Given the description of an element on the screen output the (x, y) to click on. 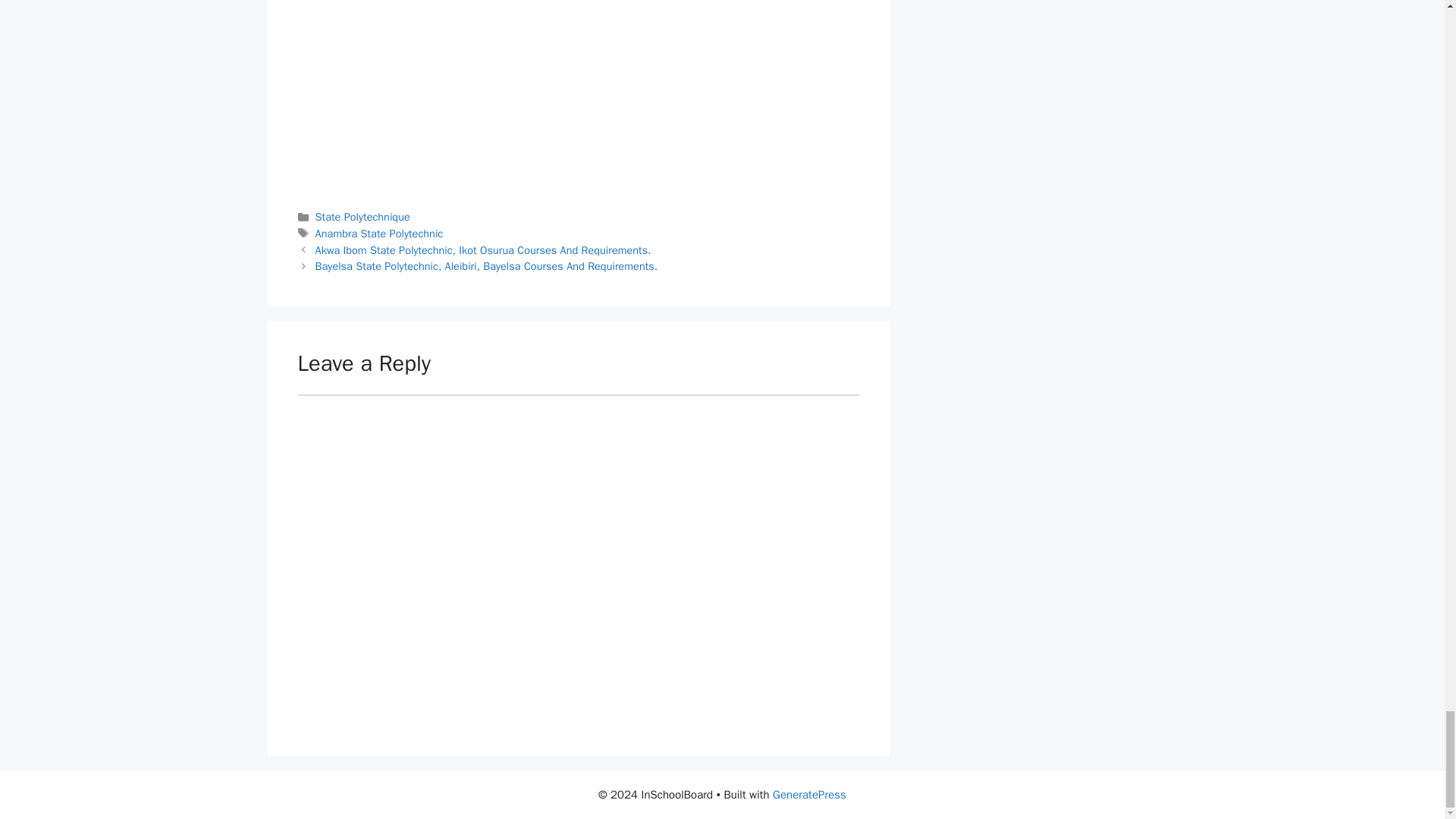
Anambra State Polytechnic (379, 233)
State Polytechnique (362, 216)
